Given the description of an element on the screen output the (x, y) to click on. 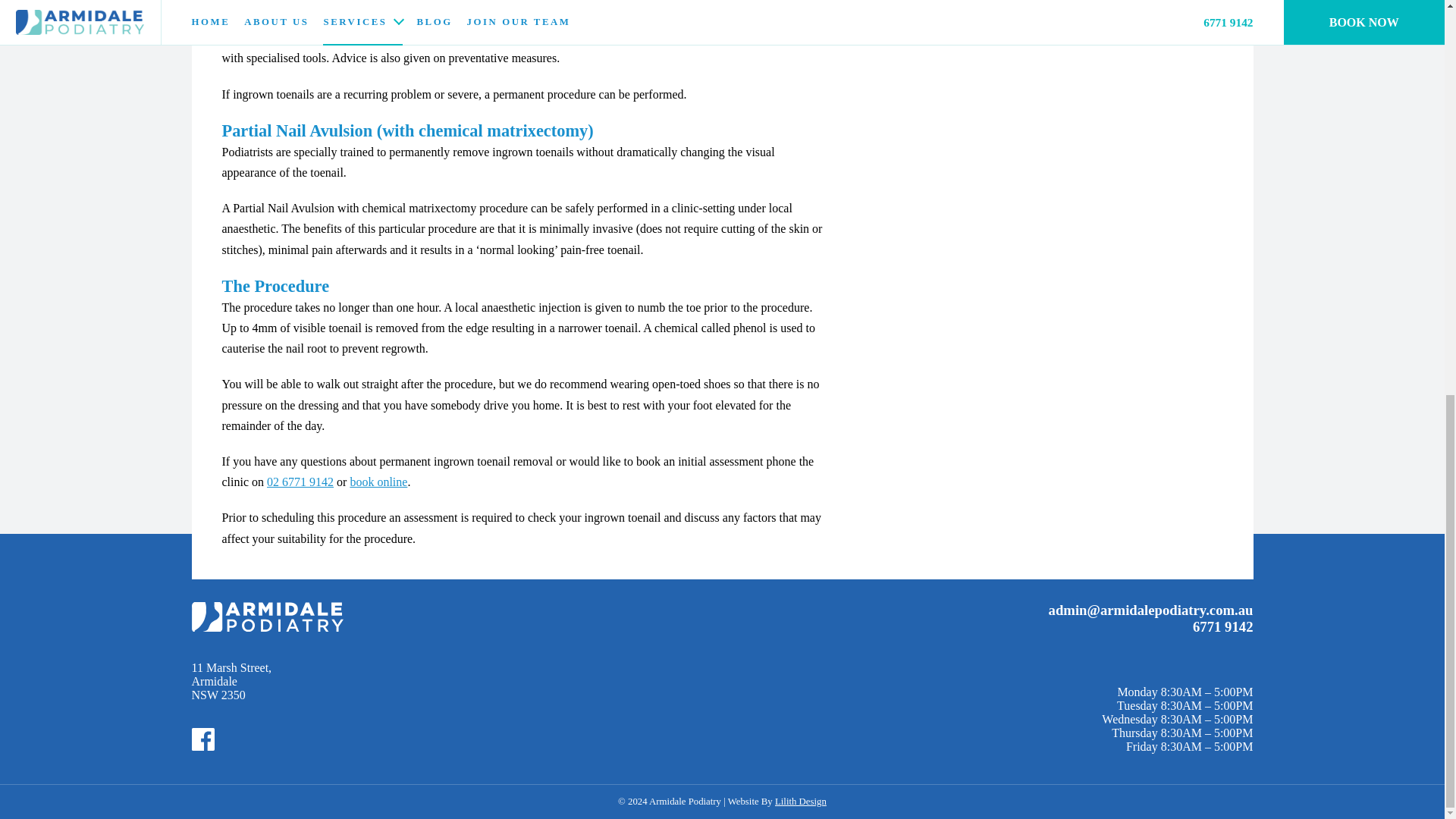
Lilith Design (800, 801)
6771 9142 (1222, 626)
02 6771 9142 (299, 481)
View On Google Maps (230, 681)
book online (230, 681)
